Given the description of an element on the screen output the (x, y) to click on. 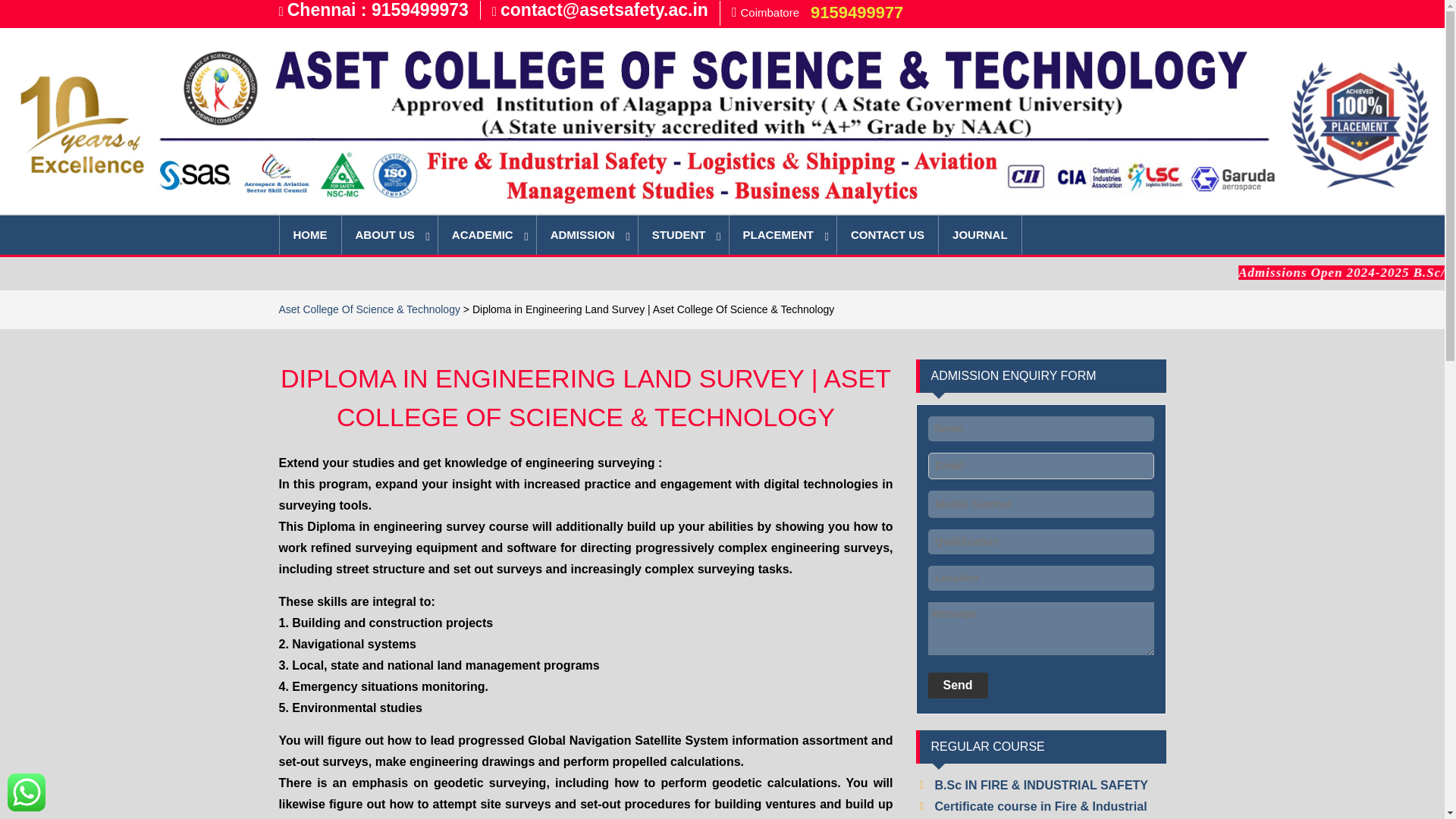
HOME (310, 235)
ACADEMIC (487, 235)
WhatsApp us (26, 792)
Send (958, 685)
ABOUT US (389, 235)
Chennai : 9159499973 (377, 9)
9159499977 (856, 12)
